Given the description of an element on the screen output the (x, y) to click on. 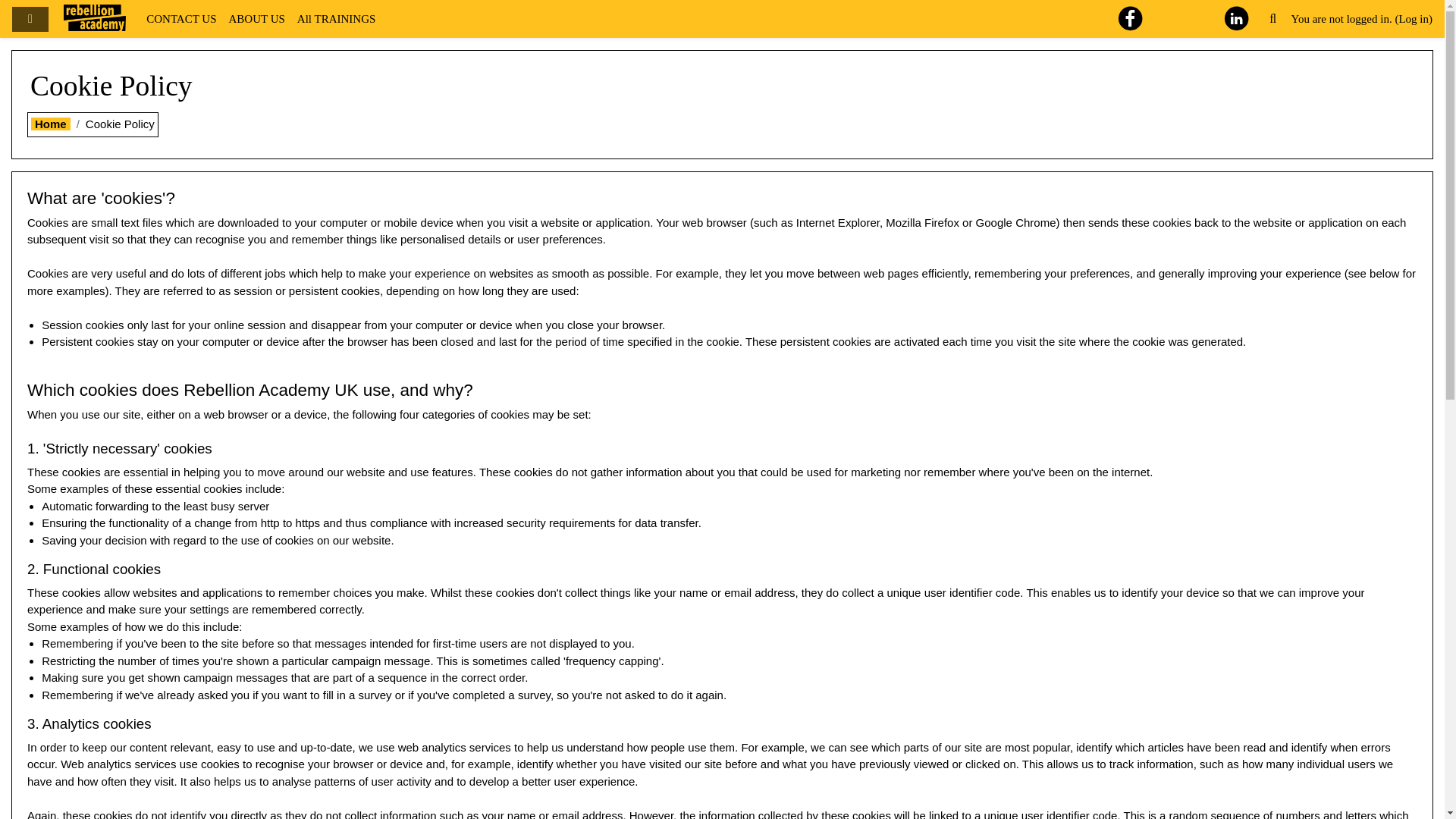
CONTACT US (180, 19)
Log in (1412, 19)
Home (49, 123)
All TRAININGS (336, 19)
ABOUT US (256, 19)
Side panel (29, 18)
Search (1272, 19)
